Given the description of an element on the screen output the (x, y) to click on. 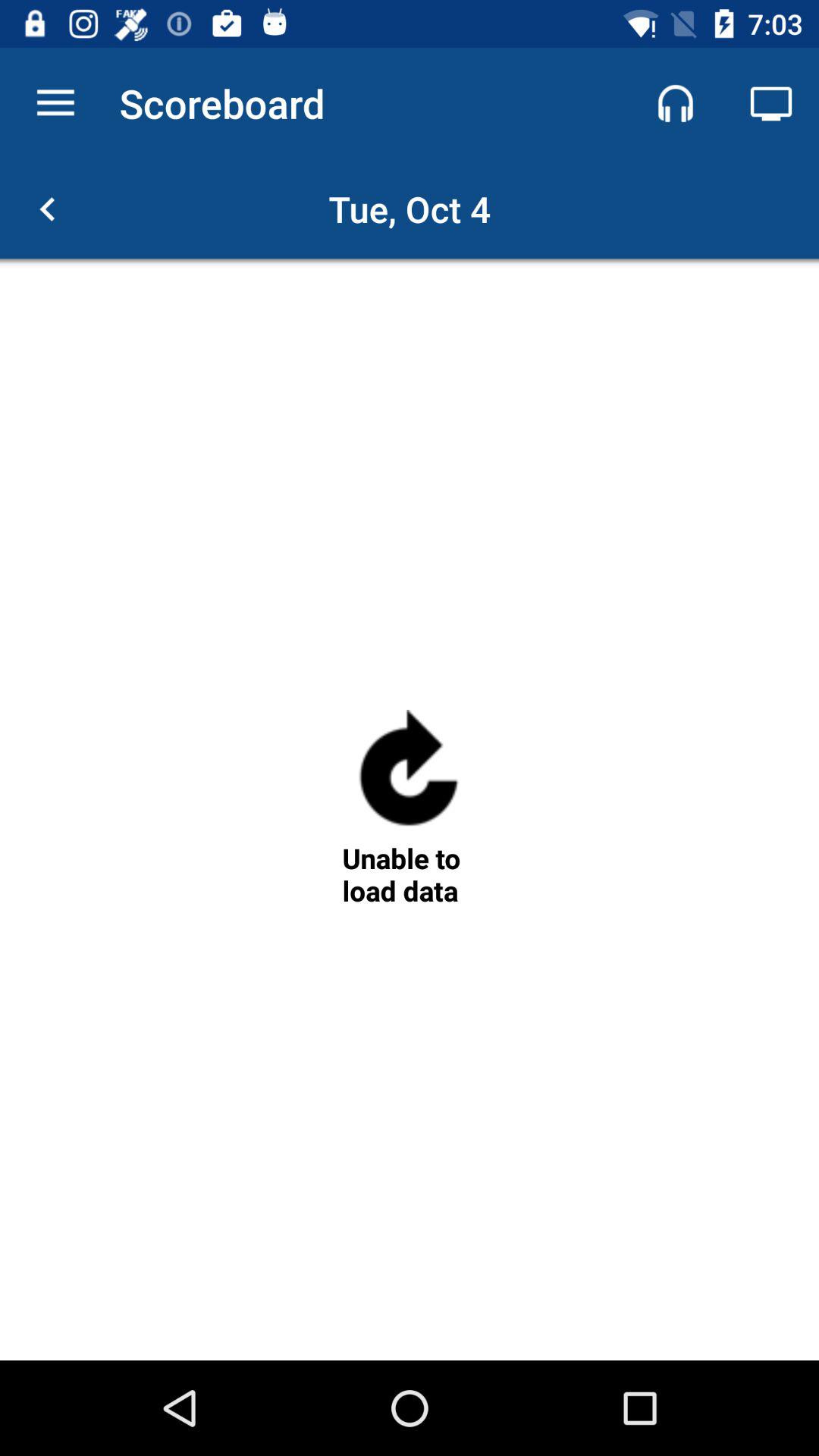
tap the item above the tue, oct 4 icon (771, 103)
